Given the description of an element on the screen output the (x, y) to click on. 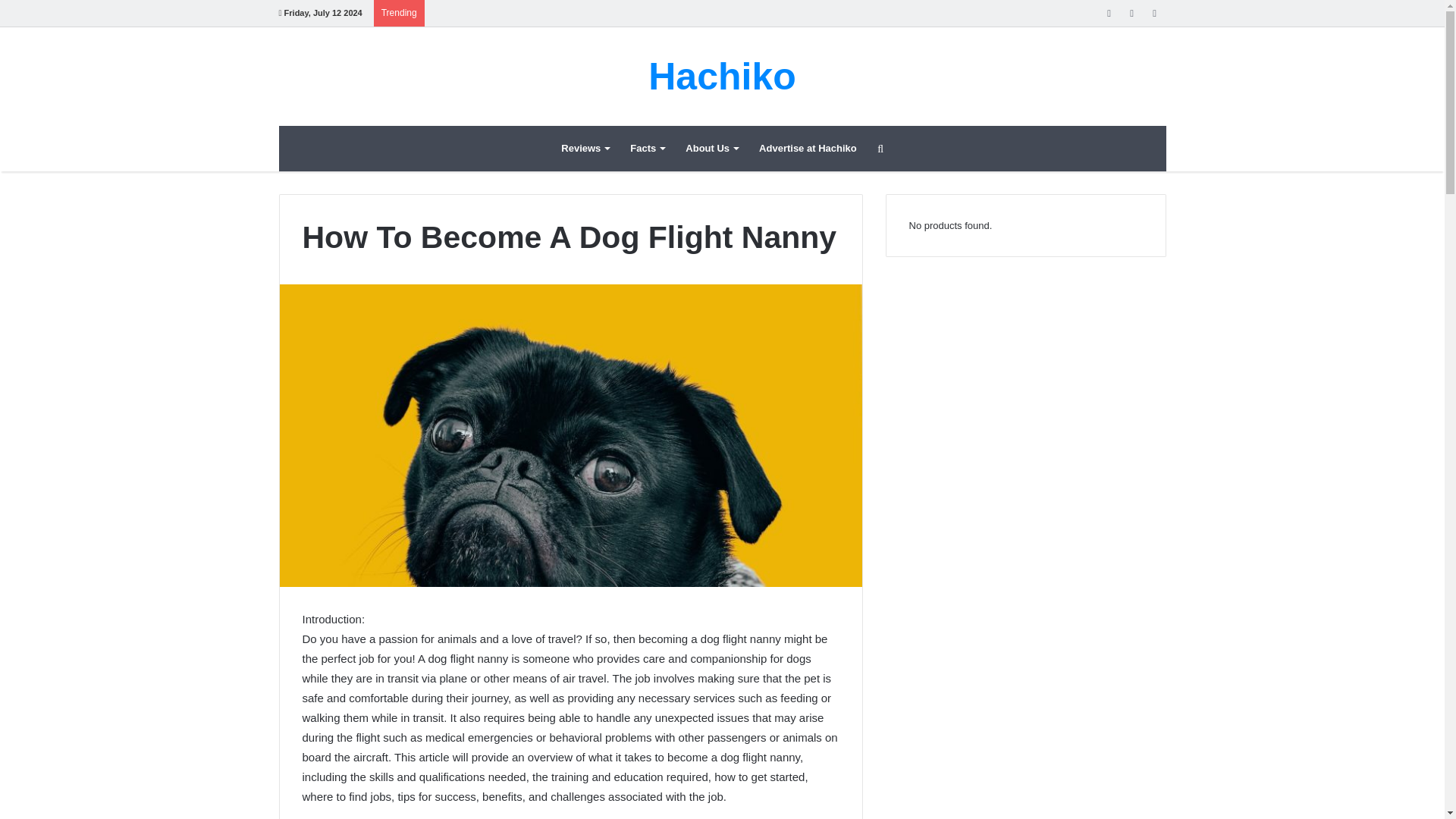
Facts (647, 148)
Hachiko (721, 76)
Hachiko (721, 76)
Reviews (585, 148)
